Given the description of an element on the screen output the (x, y) to click on. 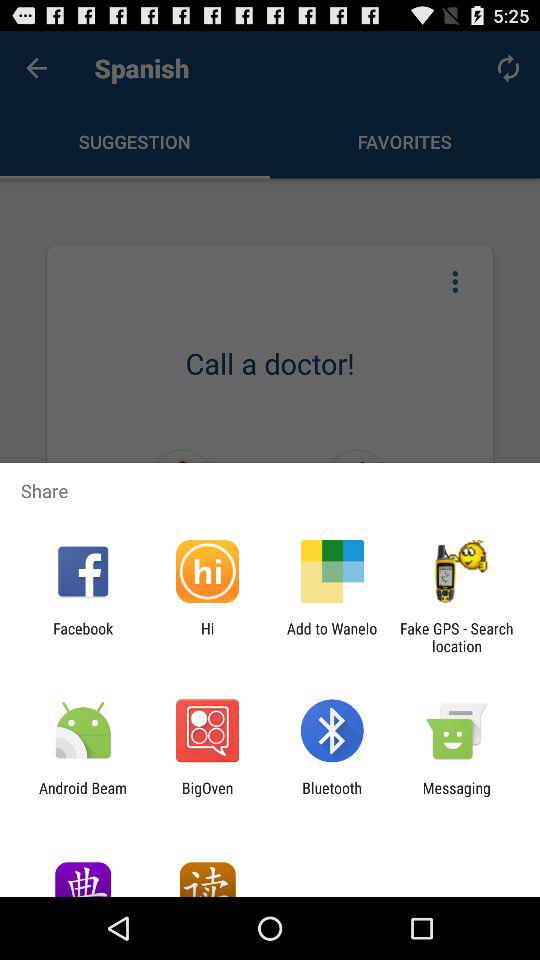
click the facebook app (83, 637)
